Given the description of an element on the screen output the (x, y) to click on. 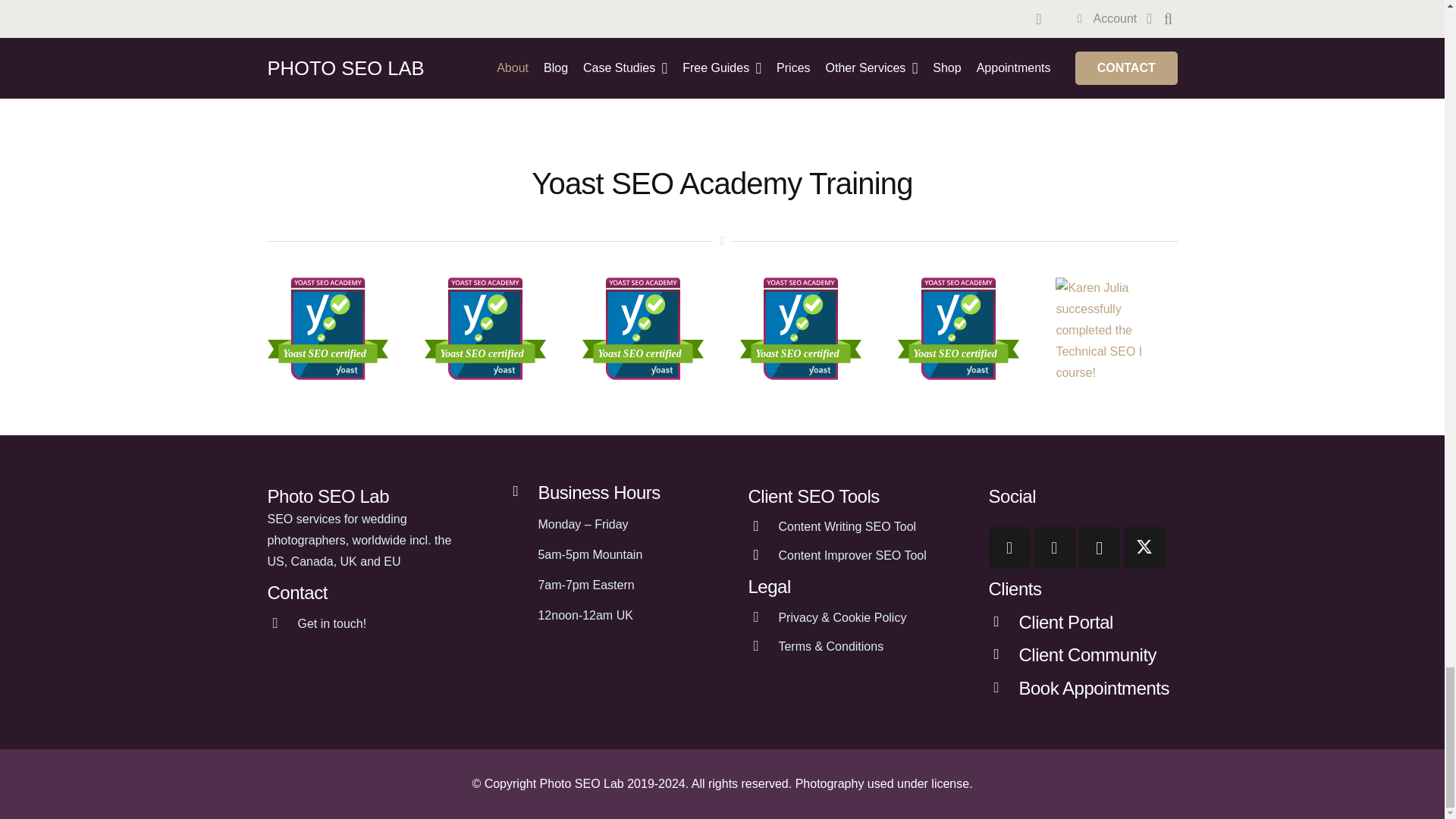
Privacy Policy (762, 617)
Terms and Conditions (762, 646)
Content Improver SEO Tool (762, 555)
Facebook (1009, 547)
Contact (331, 623)
Privacy Policy (841, 617)
Terms and Conditions (830, 646)
YouTube (1054, 547)
Instagram (1098, 547)
Content Improver SEO Tool (851, 555)
